Given the description of an element on the screen output the (x, y) to click on. 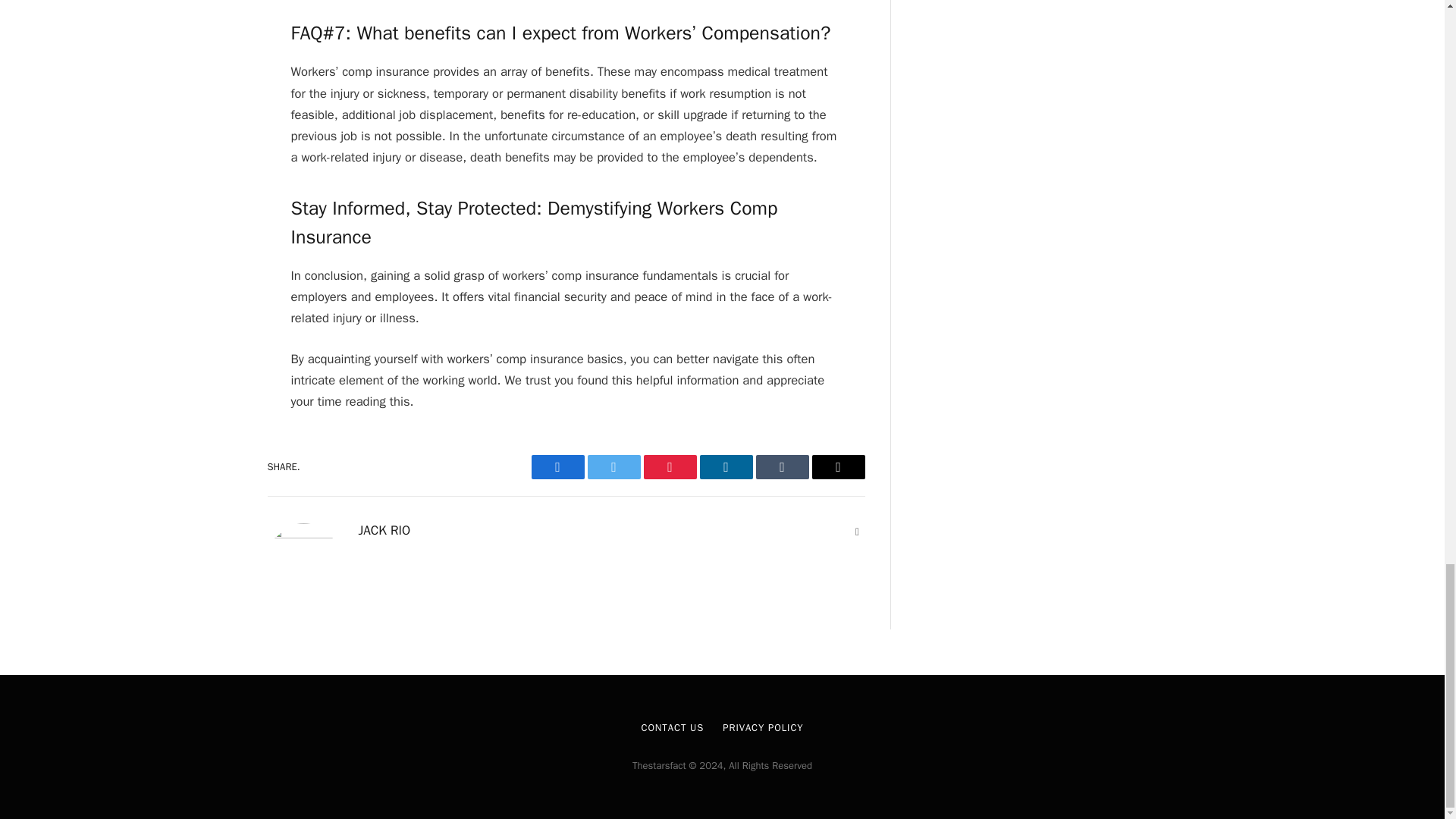
Facebook (557, 467)
